Given the description of an element on the screen output the (x, y) to click on. 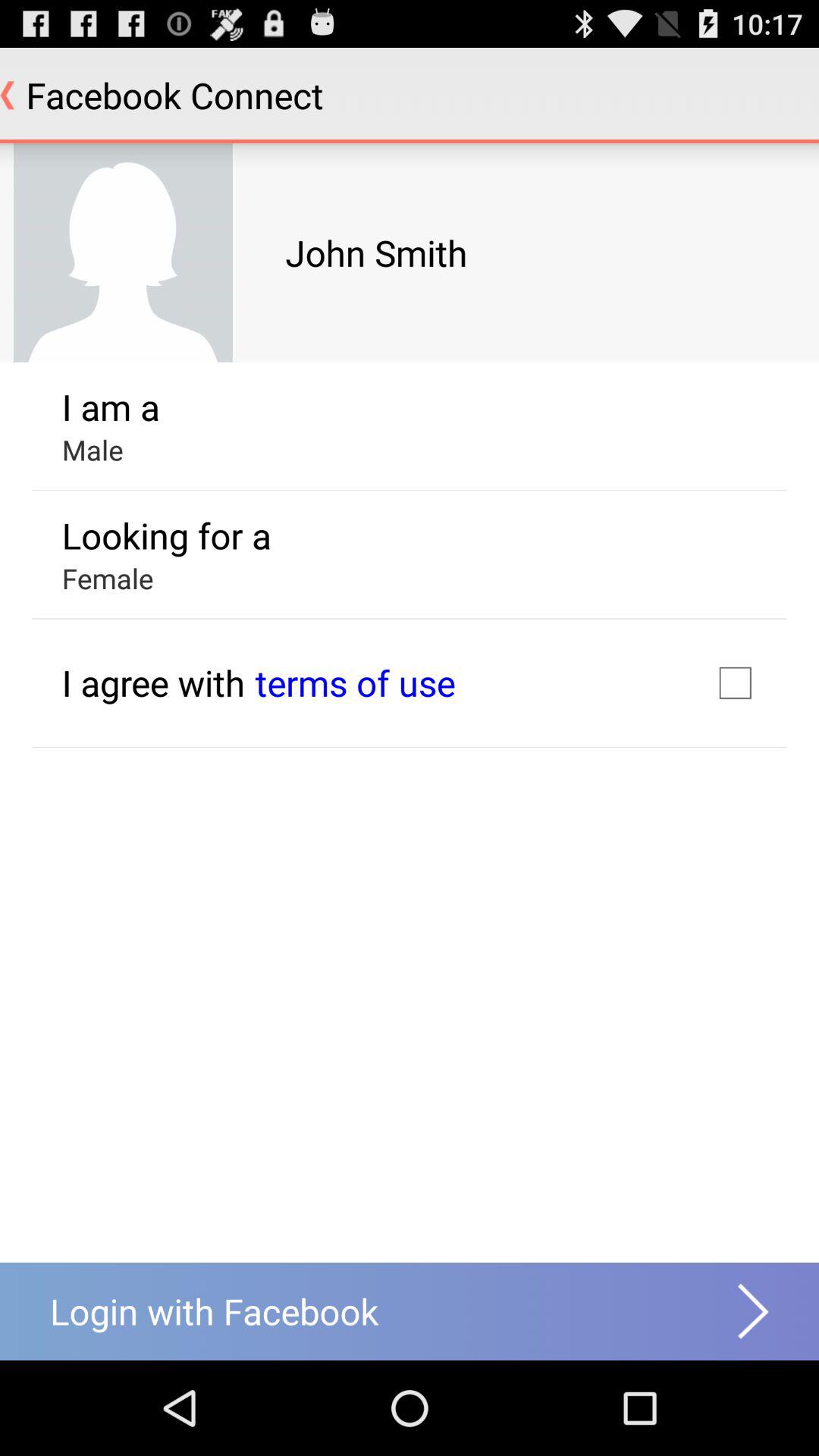
press app above the i agree with icon (107, 578)
